Given the description of an element on the screen output the (x, y) to click on. 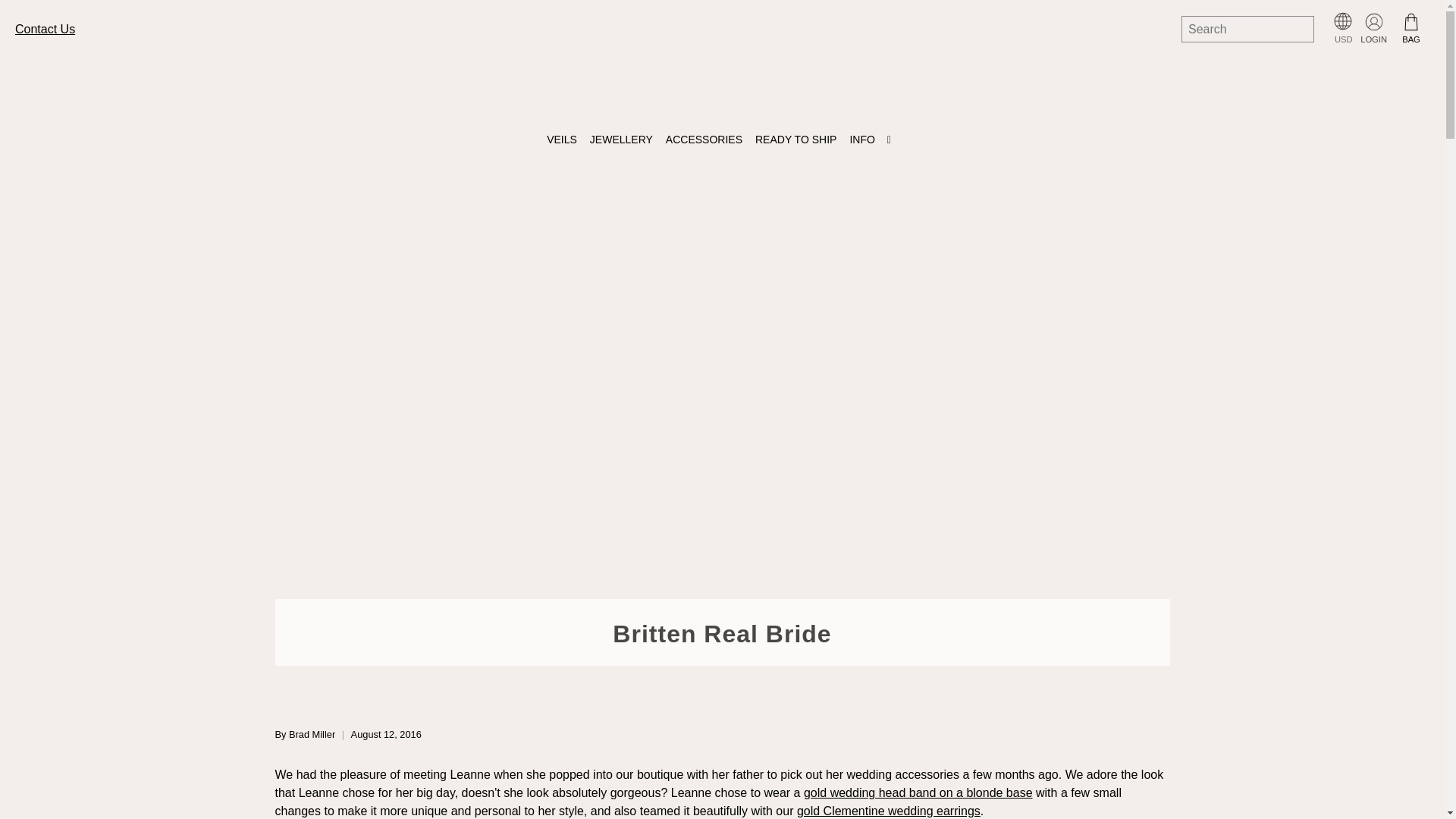
VEILS (564, 139)
ACCESSORIES (706, 139)
INFO (873, 139)
READY TO SHIP (798, 139)
Gold wedding earrings (887, 810)
gold wedding head band (917, 792)
JEWELLERY (624, 139)
Contact Us (44, 29)
